Given the description of an element on the screen output the (x, y) to click on. 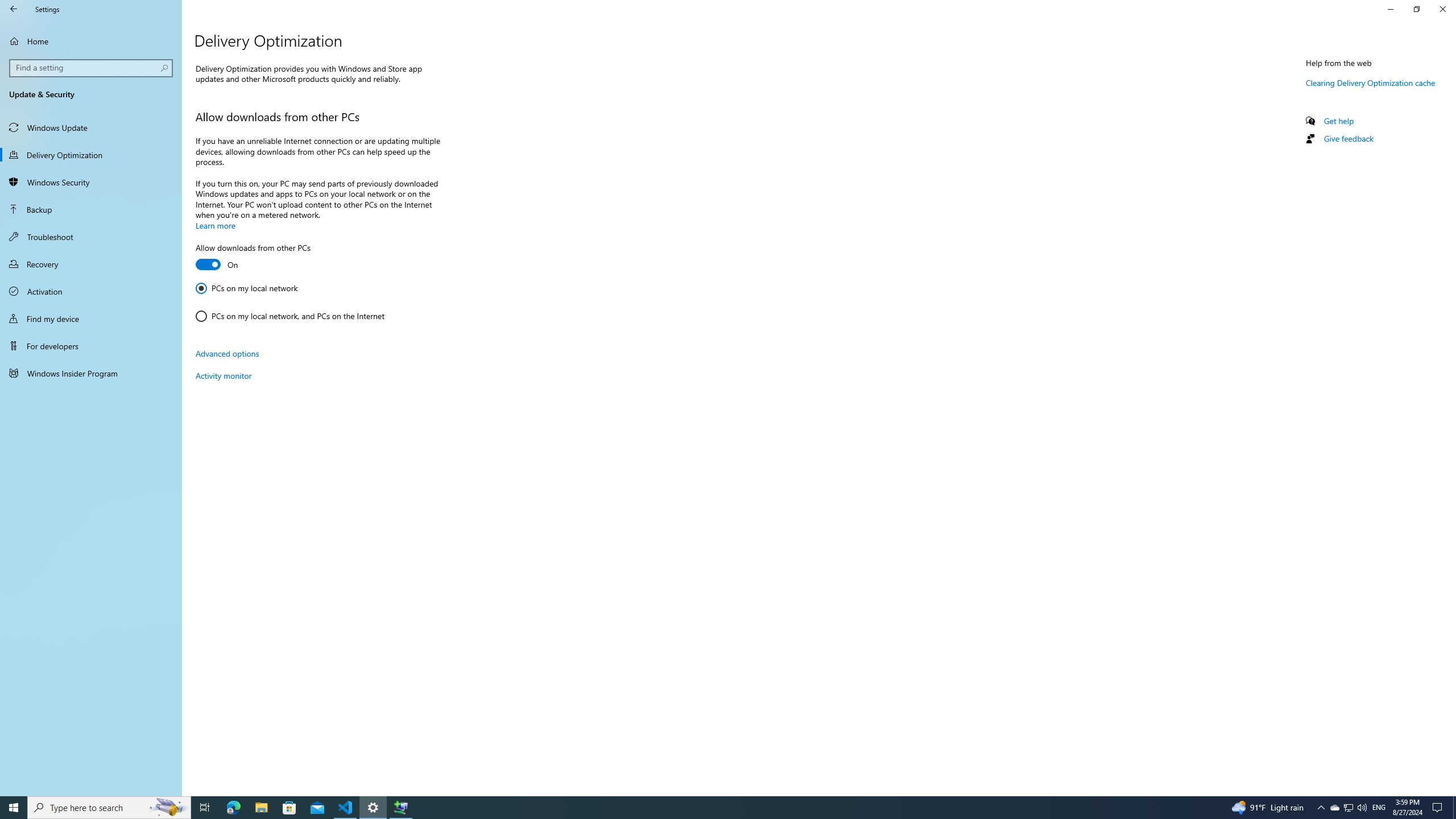
Find my device (91, 318)
Backup (91, 208)
Windows Update (91, 126)
Delivery Optimization (91, 154)
Learn more (215, 225)
Clearing Delivery Optimization cache (1370, 82)
Settings - 1 running window (373, 807)
